Given the description of an element on the screen output the (x, y) to click on. 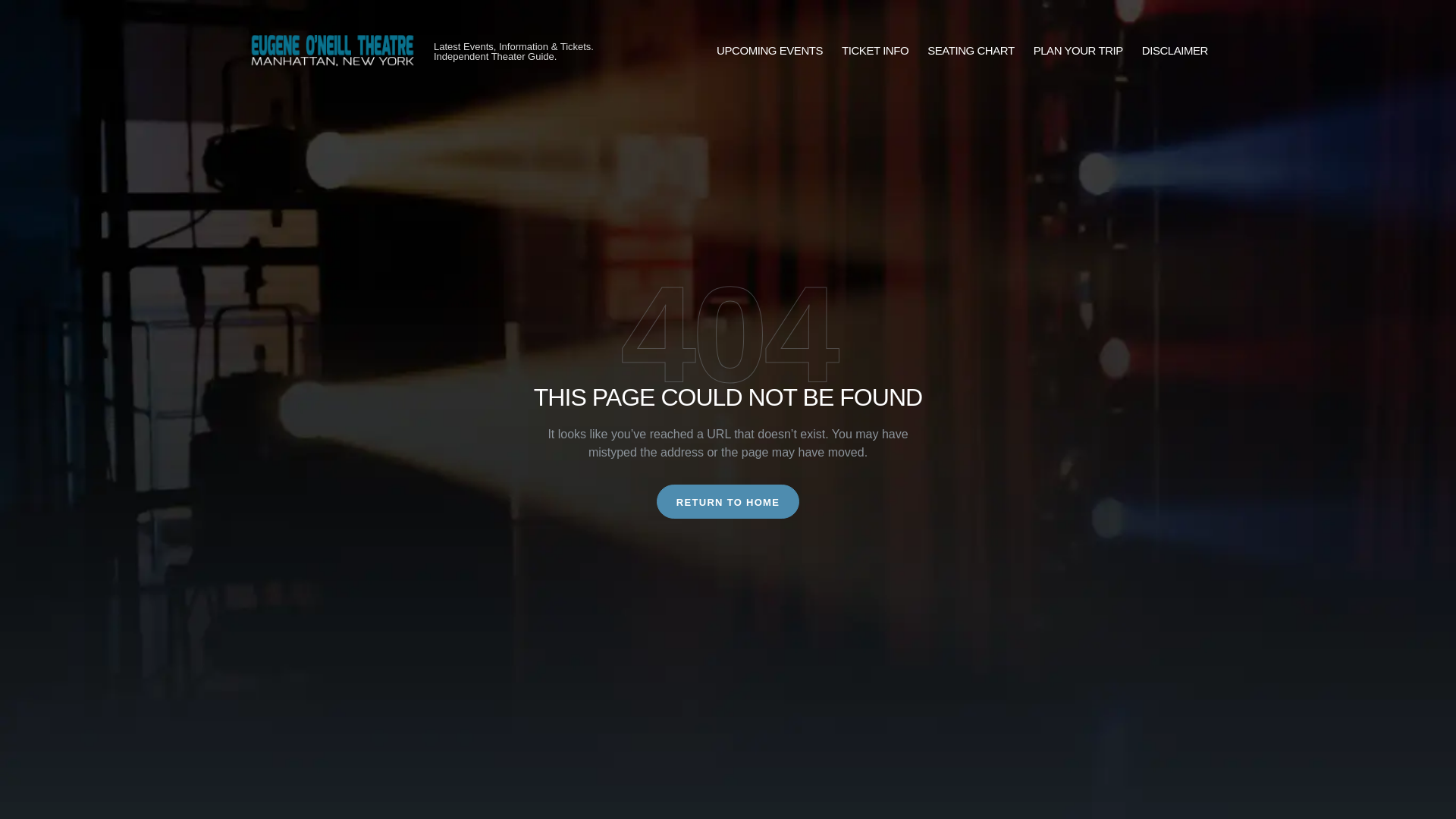
SEATING CHART (970, 50)
RETURN TO HOME (727, 501)
PLAN YOUR TRIP (1077, 50)
UPCOMING EVENTS (769, 50)
DISCLAIMER (1174, 50)
TICKET INFO (874, 50)
